Given the description of an element on the screen output the (x, y) to click on. 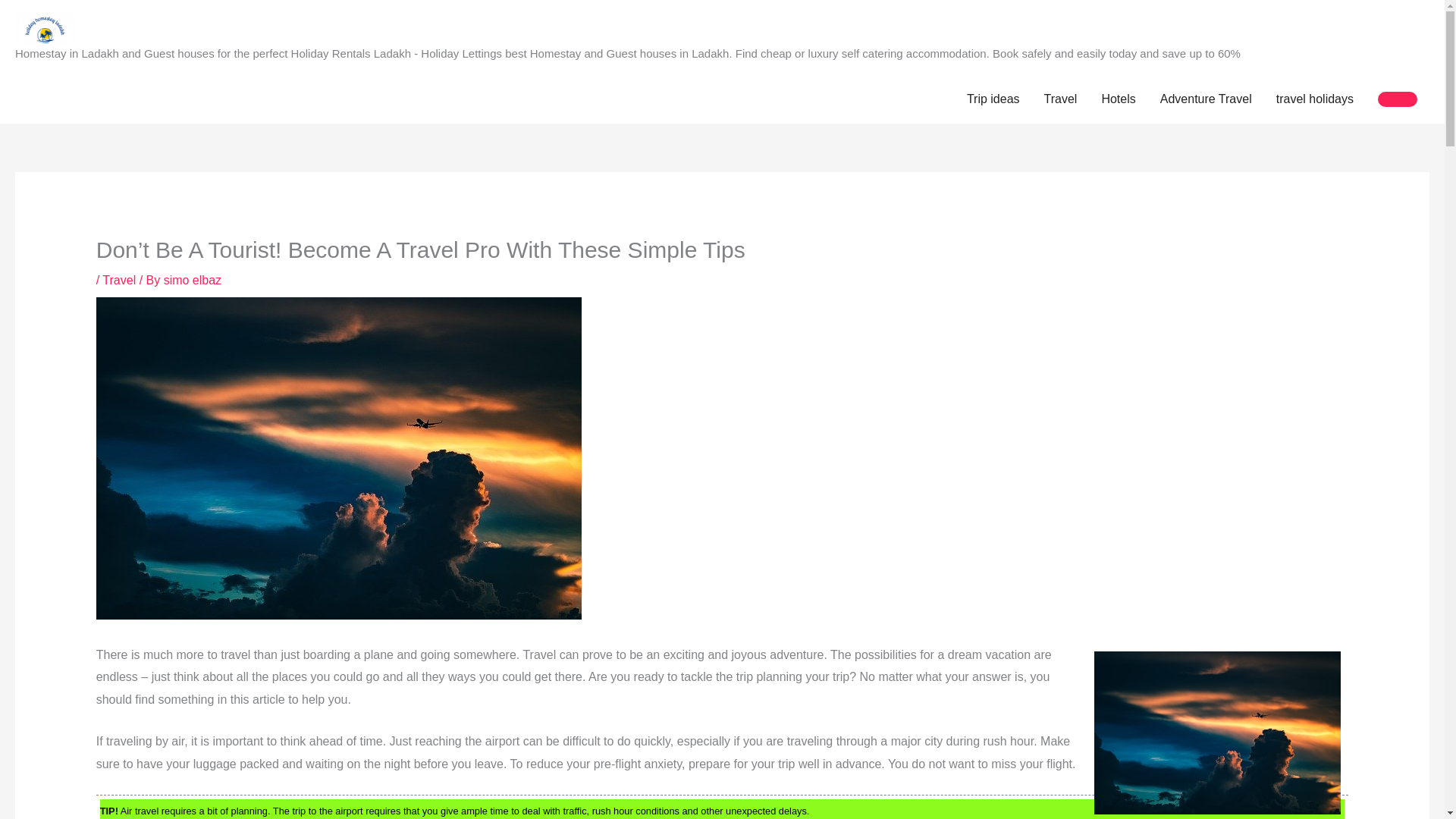
Trip ideas (993, 99)
Adventure Travel (1205, 99)
Travel (1060, 99)
Travel (118, 279)
Hotels (1118, 99)
View all posts by simo elbaz (192, 279)
simo elbaz (192, 279)
travel holidays (1314, 99)
